Given the description of an element on the screen output the (x, y) to click on. 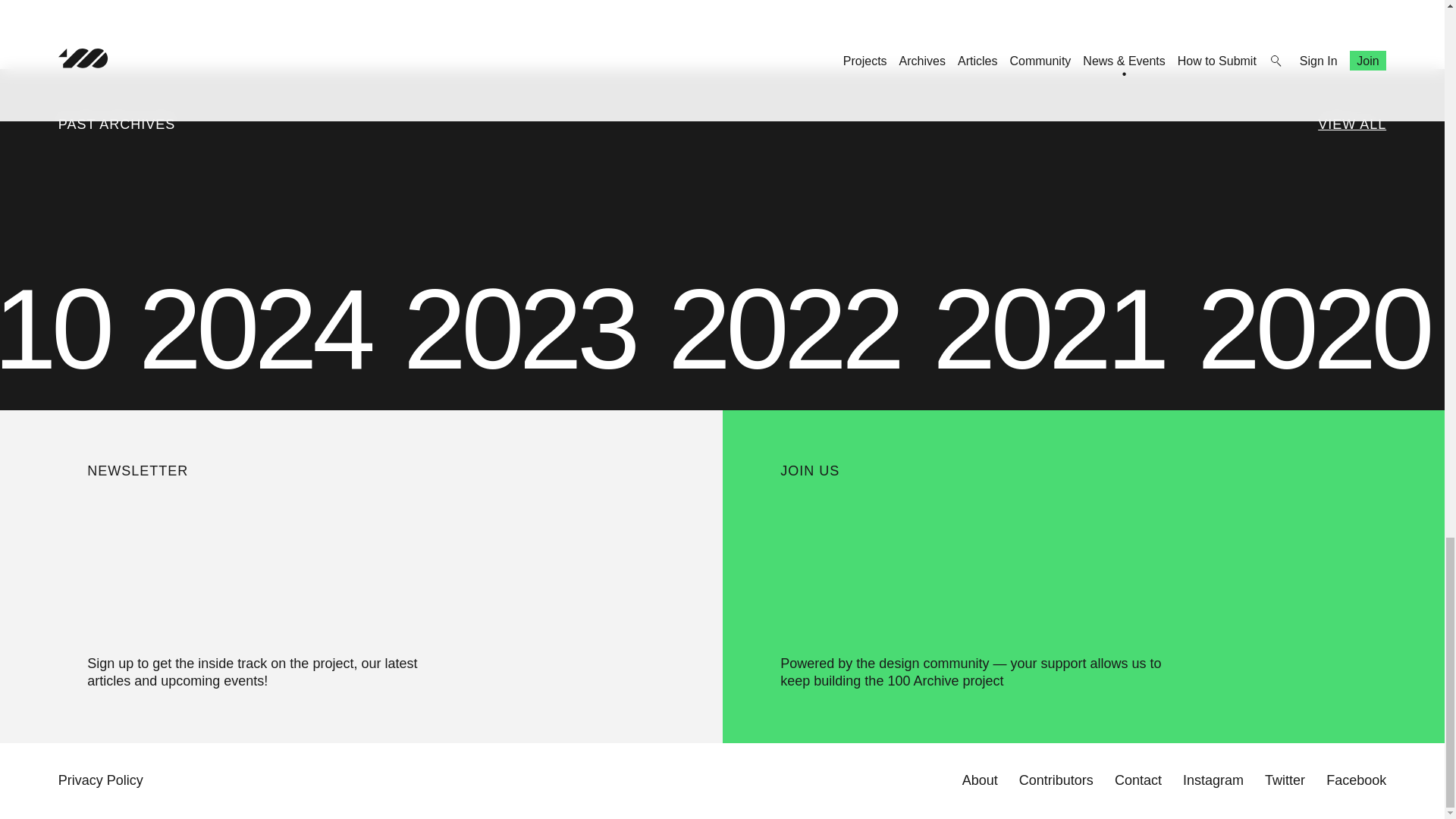
2023 (533, 329)
2021 (1063, 329)
VIEW ALL (1351, 124)
2022 (798, 329)
2024 (268, 329)
2010 (69, 329)
